Given the description of an element on the screen output the (x, y) to click on. 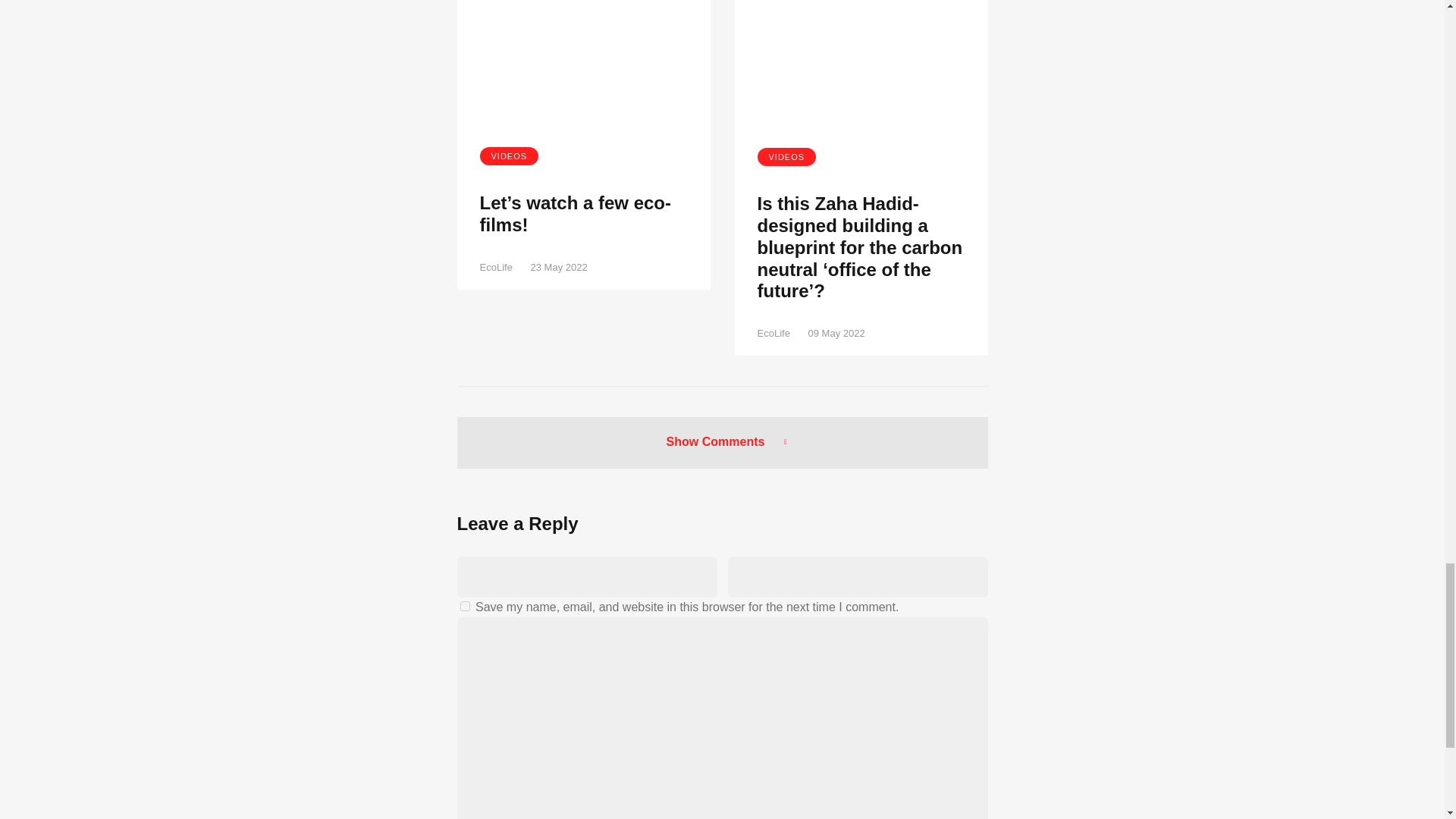
Posts by EcoLife (773, 333)
Posts by EcoLife (495, 266)
yes (464, 605)
